Given the description of an element on the screen output the (x, y) to click on. 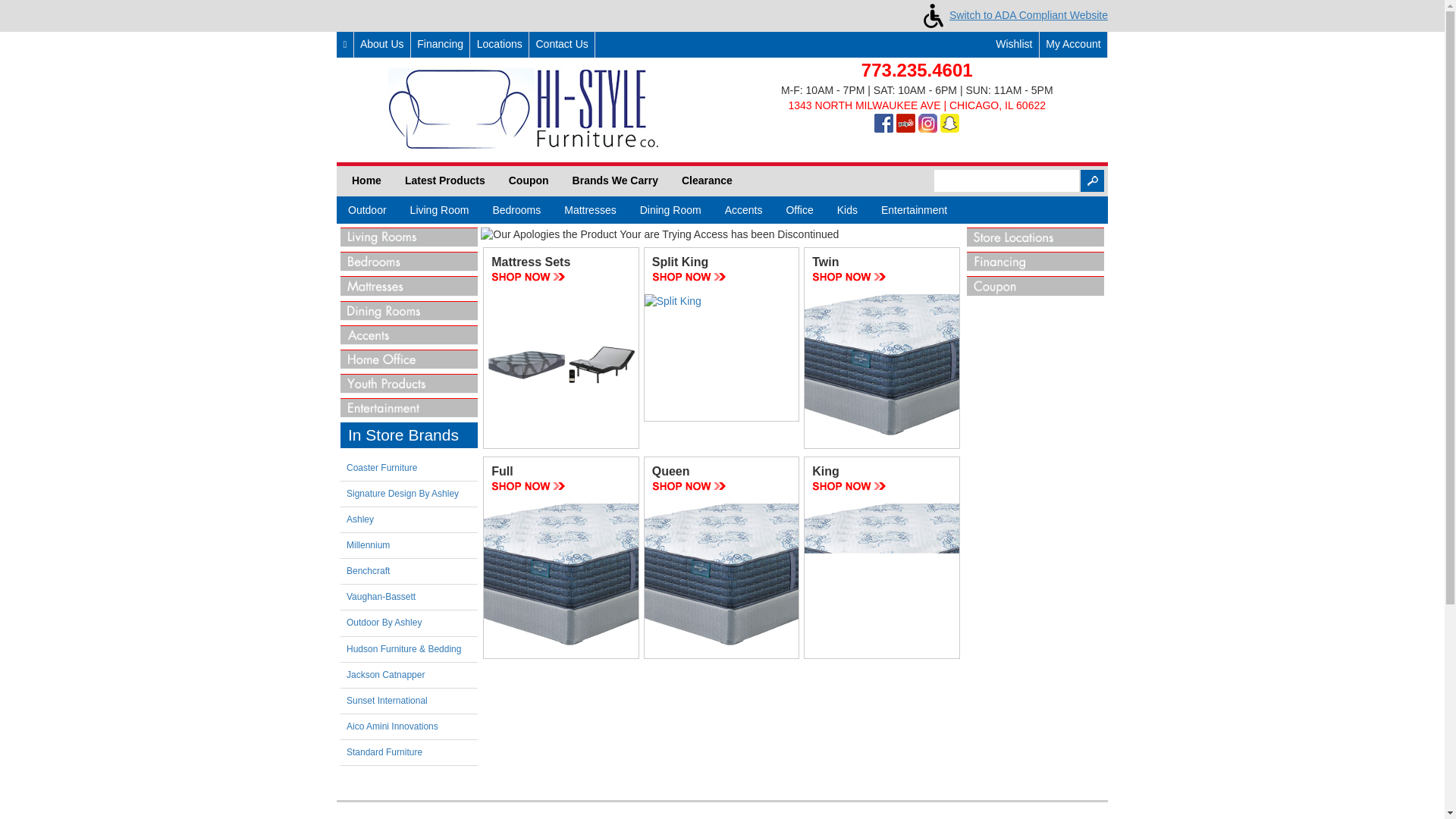
 Wishlist (1006, 44)
My Account (1072, 44)
Search (1091, 180)
Financing (439, 44)
Locations (499, 44)
Switch to ADA Compliant Website (1012, 15)
About Us (381, 44)
Go to ADA Compliant Website (1012, 15)
Contact Us (561, 44)
